Given the description of an element on the screen output the (x, y) to click on. 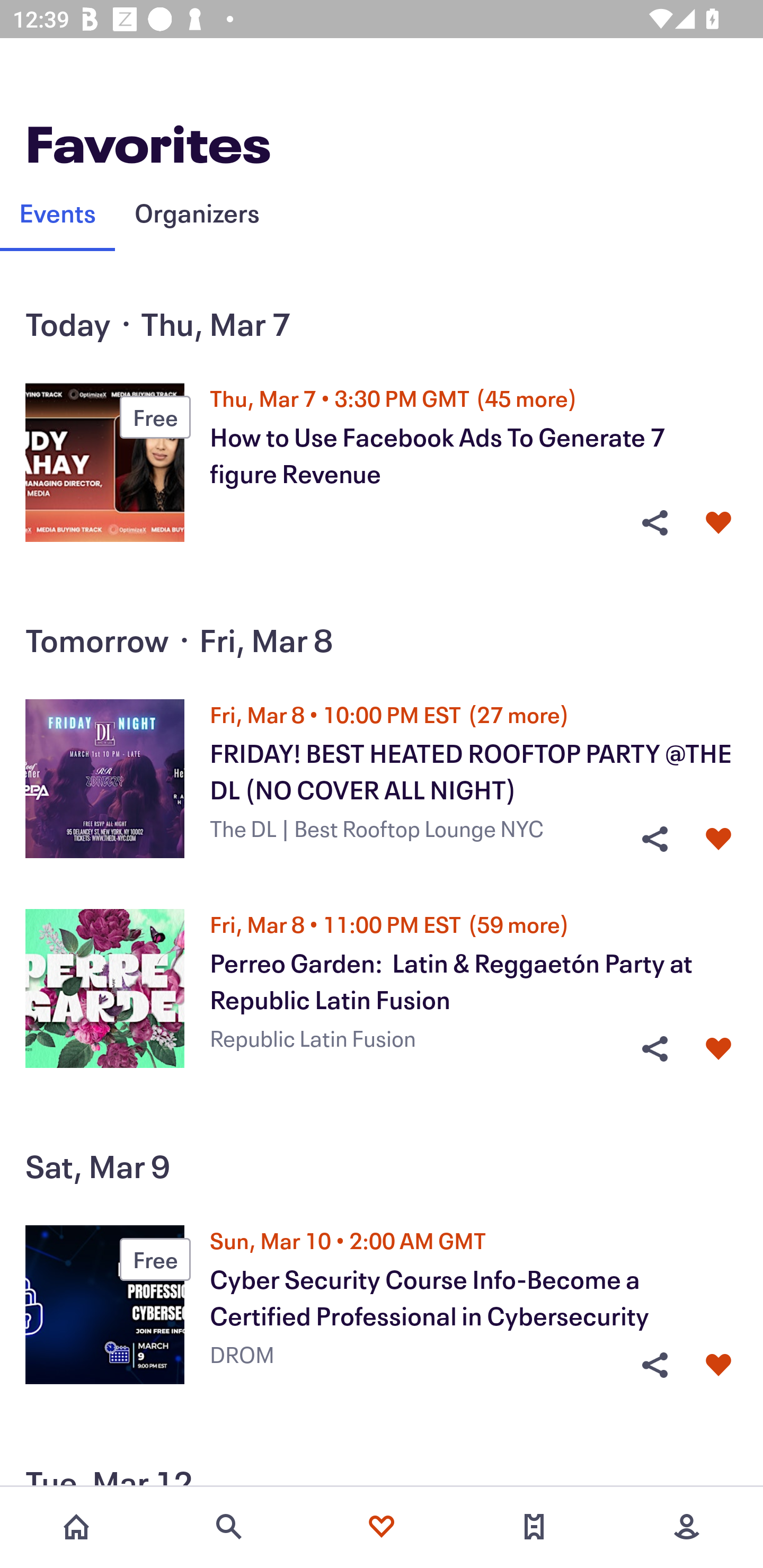
Organizers (196, 212)
Share Event (654, 522)
Unlike event (718, 522)
Share Event (654, 838)
Unlike event (718, 838)
Share Event (654, 1048)
Unlike event (718, 1048)
Share Event (654, 1364)
Unlike event (718, 1364)
Home (76, 1526)
Search events (228, 1526)
Favorites (381, 1526)
Tickets (533, 1526)
More (686, 1526)
